Given the description of an element on the screen output the (x, y) to click on. 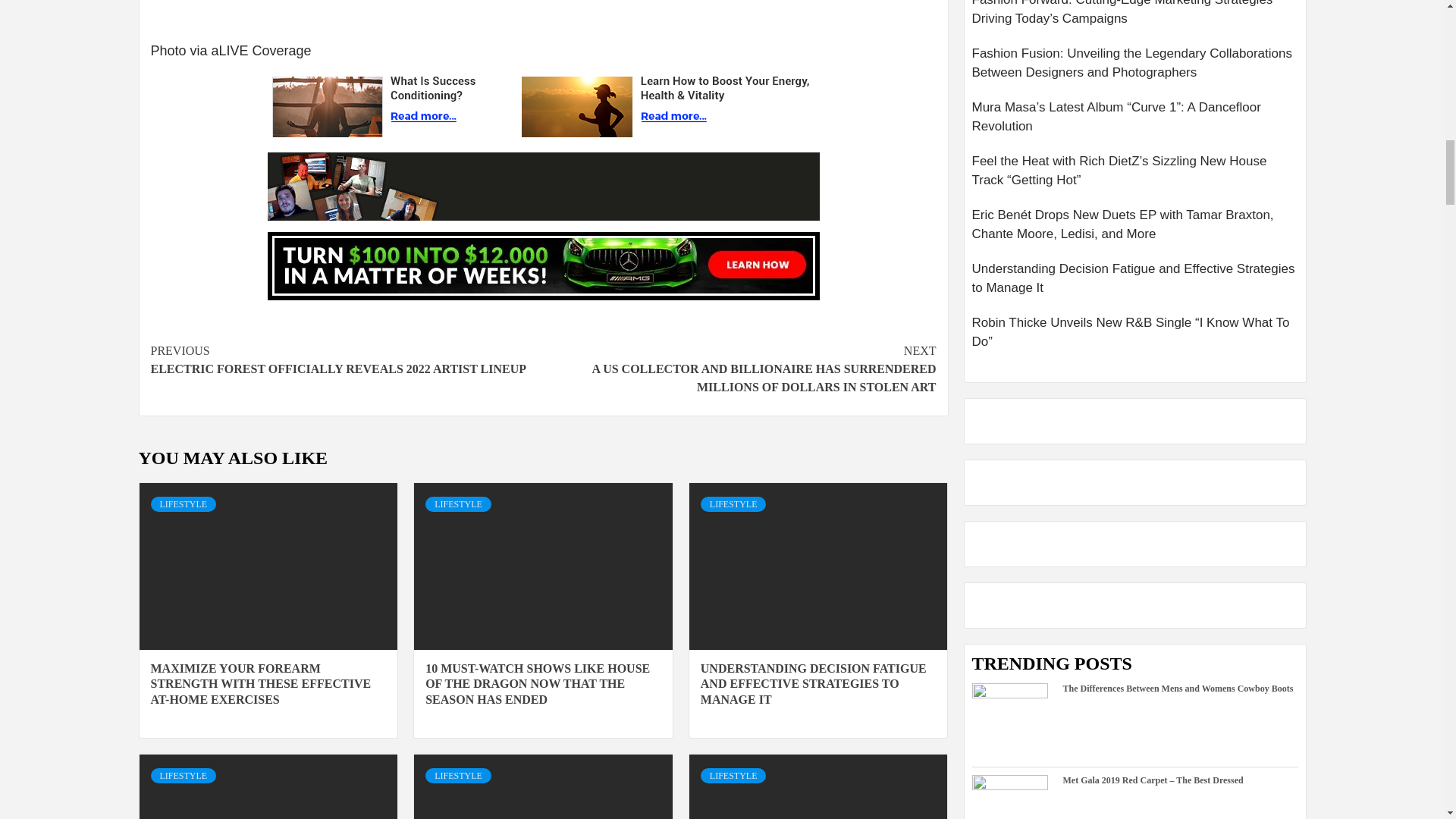
LIFESTYLE (182, 503)
LIFESTYLE (458, 503)
RESISTANCE MIAMI 2022 (542, 11)
